Given the description of an element on the screen output the (x, y) to click on. 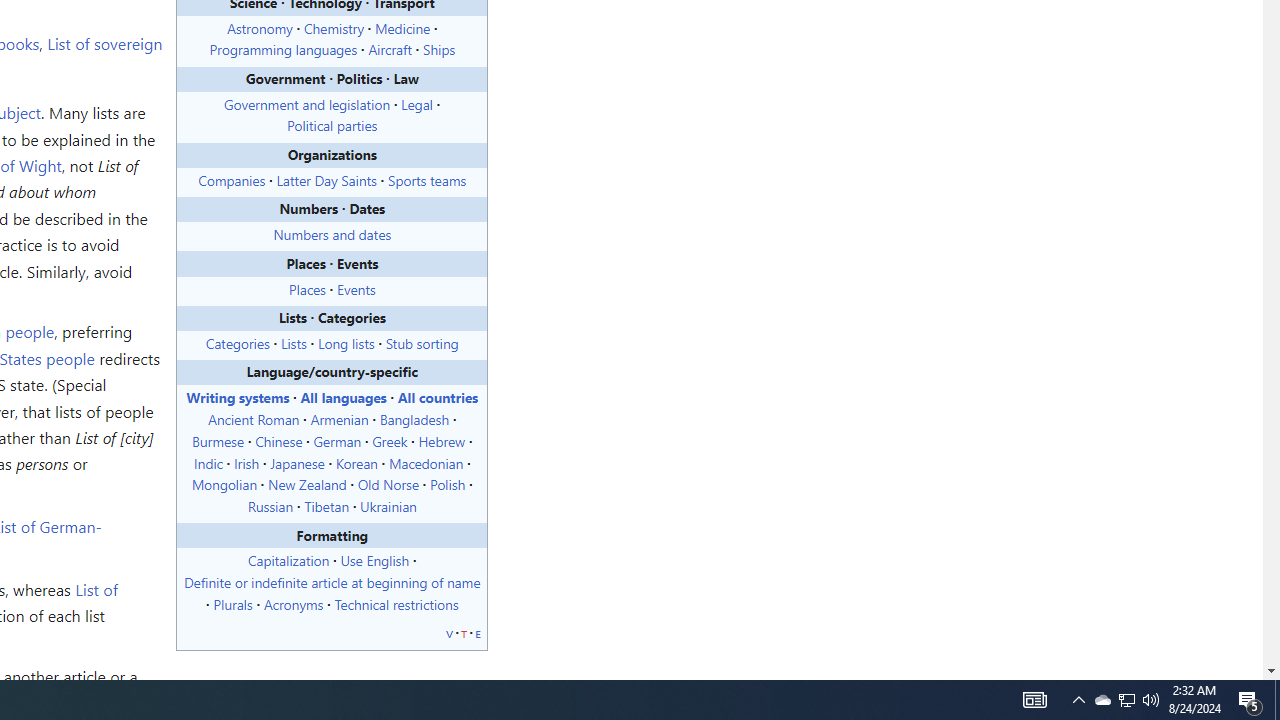
Stub sorting (422, 342)
Definite or indefinite article at beginning of name (332, 582)
Hebrew (441, 440)
Programming languages (282, 49)
Capitalization (288, 560)
Latter Day Saints (326, 178)
Medicine (403, 27)
Categories (237, 342)
e (477, 632)
All languages (342, 397)
Russian (270, 506)
Indic (207, 462)
Sports teams (426, 178)
Astronomy (259, 27)
Use English (374, 560)
